Given the description of an element on the screen output the (x, y) to click on. 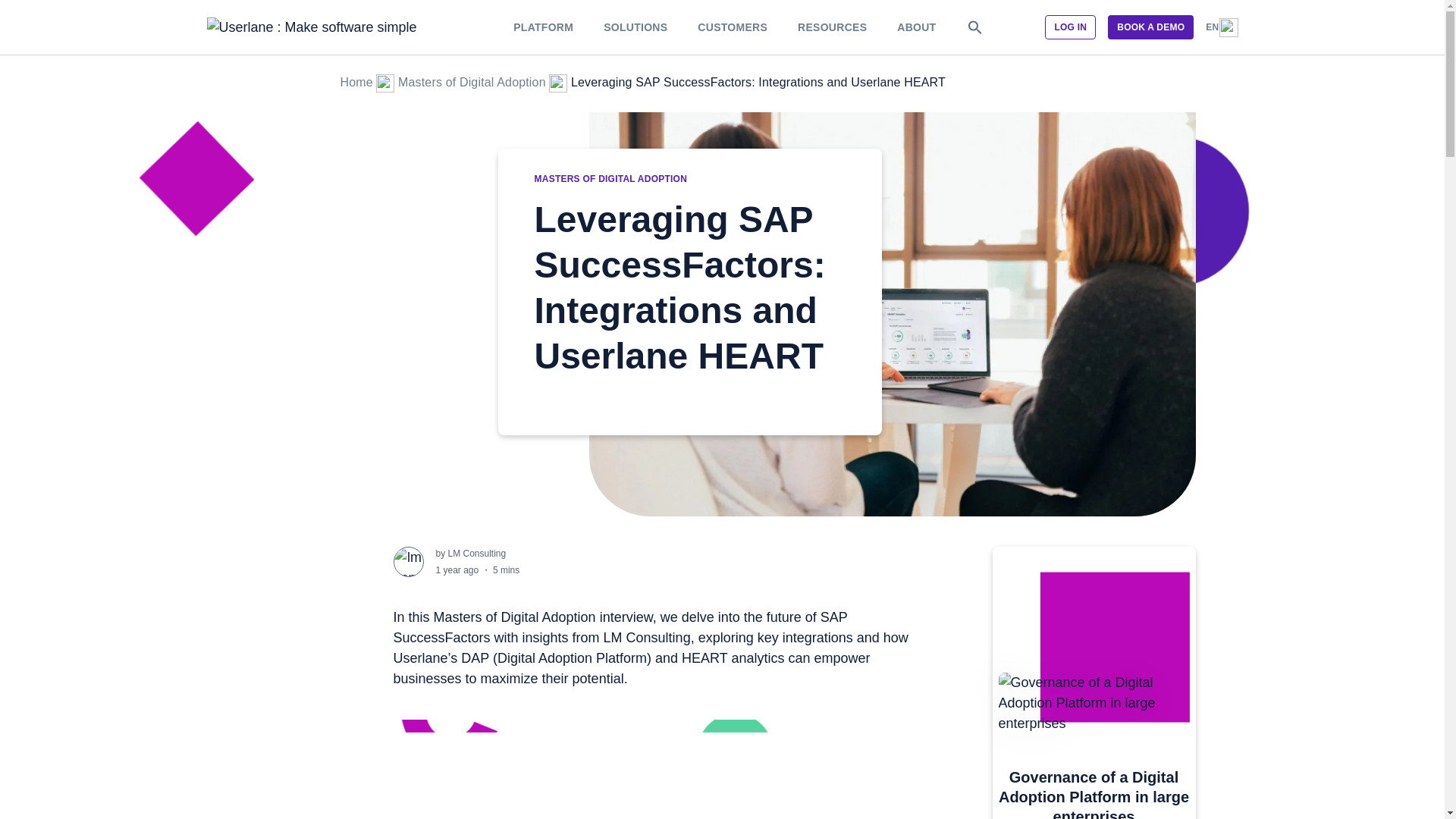
Userlane: Make software simple (355, 82)
Userlane : Make software simple (311, 26)
EN (1221, 27)
LOG IN (1070, 27)
BOOK A DEMO (1150, 27)
